Given the description of an element on the screen output the (x, y) to click on. 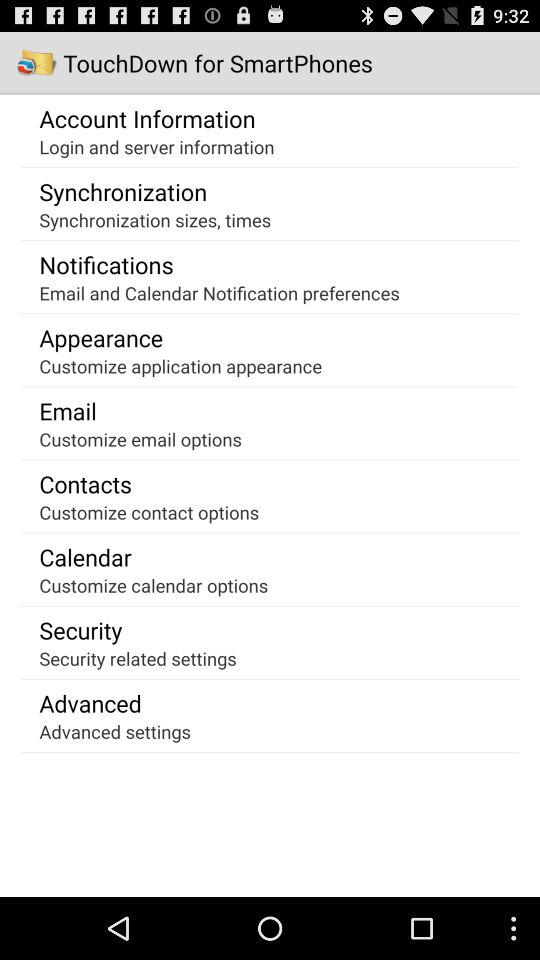
tap item above notifications app (155, 219)
